Given the description of an element on the screen output the (x, y) to click on. 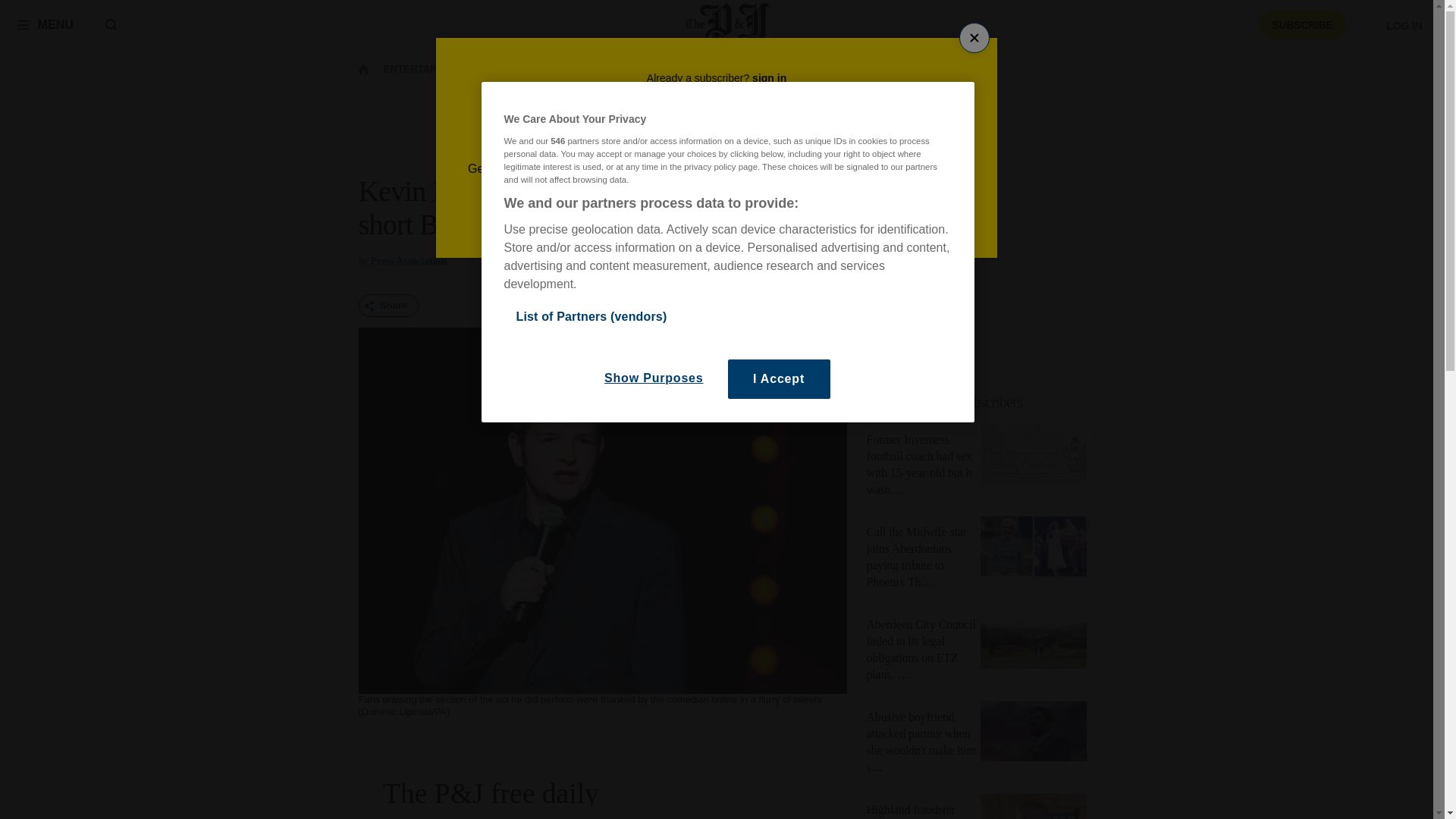
Exclusive to our subscribers (944, 402)
Press and Journal (727, 24)
MENU (44, 24)
Exclusive to our subscribers (981, 402)
